Given the description of an element on the screen output the (x, y) to click on. 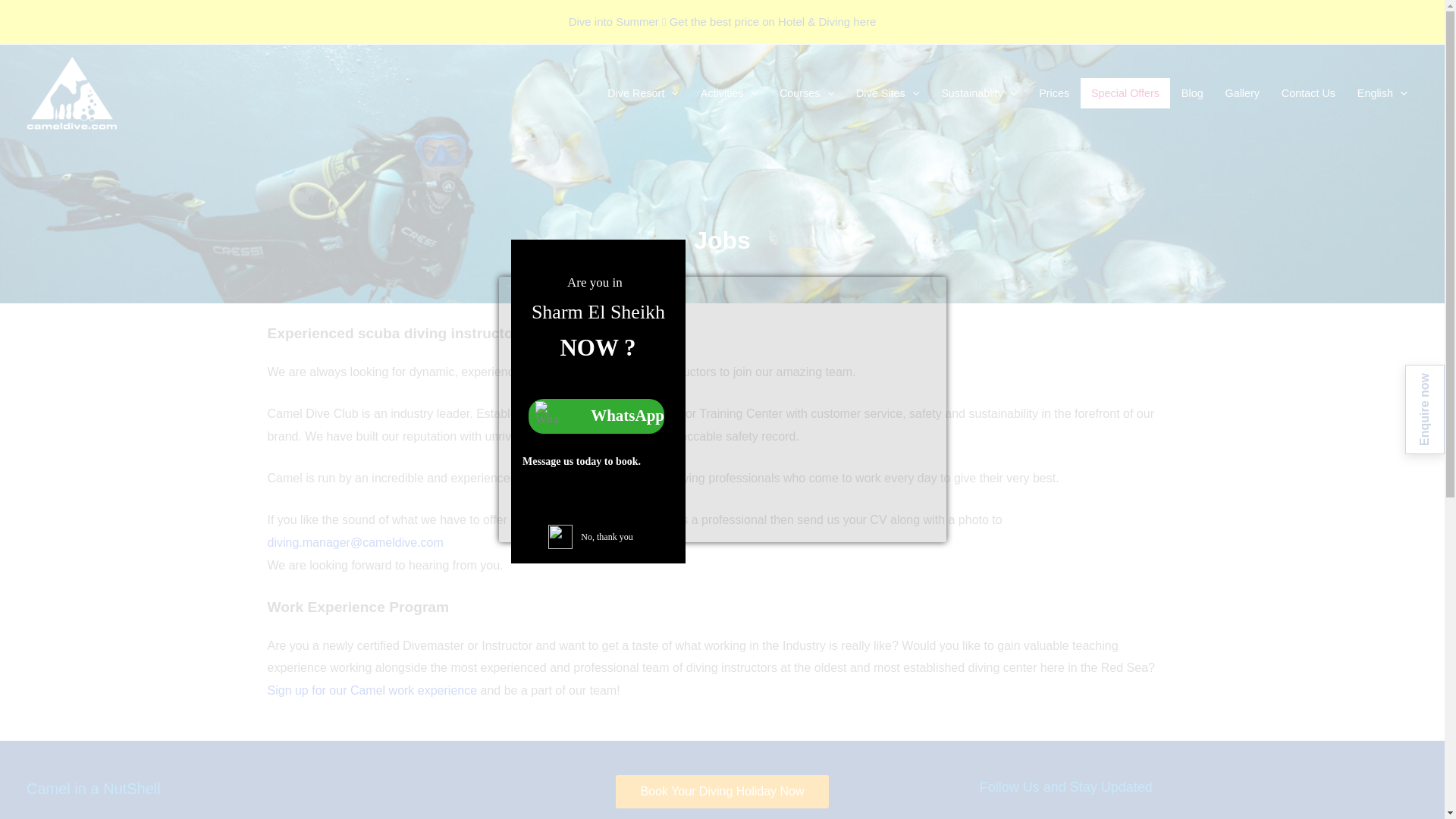
Activities (728, 93)
Dive Resort (643, 93)
Prices (1053, 93)
English (1381, 93)
Courses (806, 93)
Sustainablity (978, 93)
Dive Sites (887, 93)
